Given the description of an element on the screen output the (x, y) to click on. 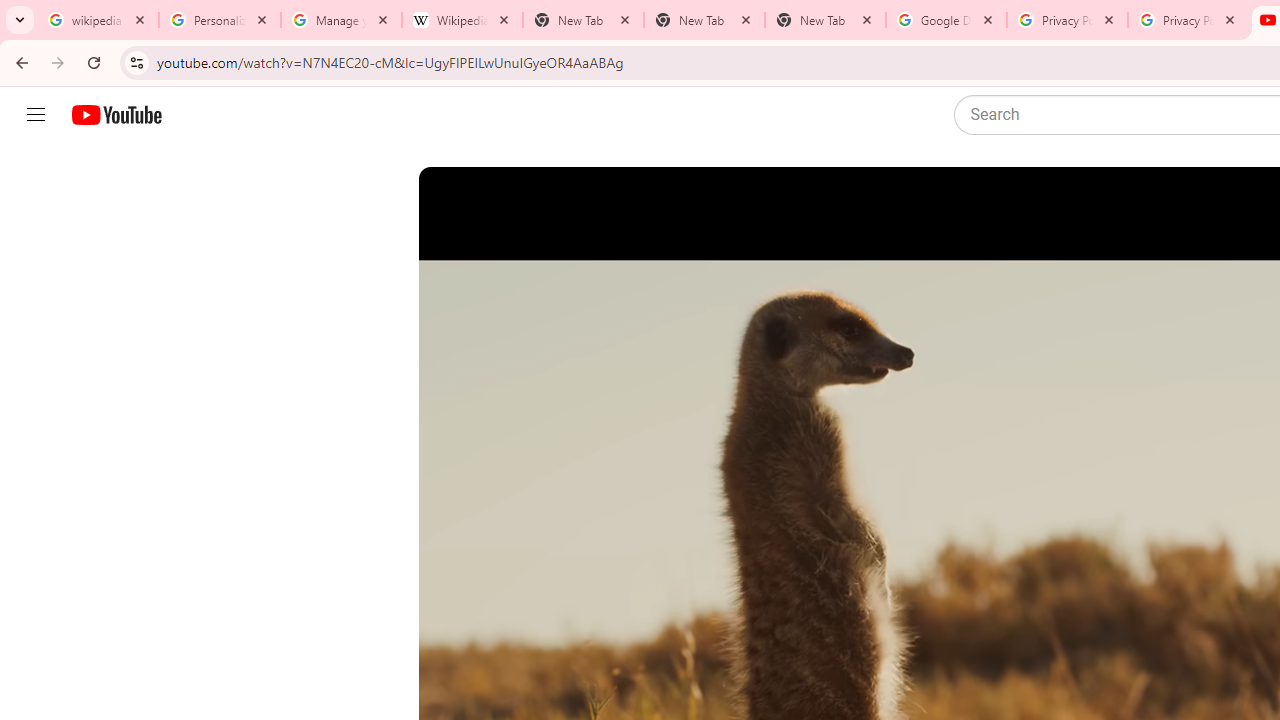
Google Drive: Sign-in (946, 20)
Guide (35, 115)
